Given the description of an element on the screen output the (x, y) to click on. 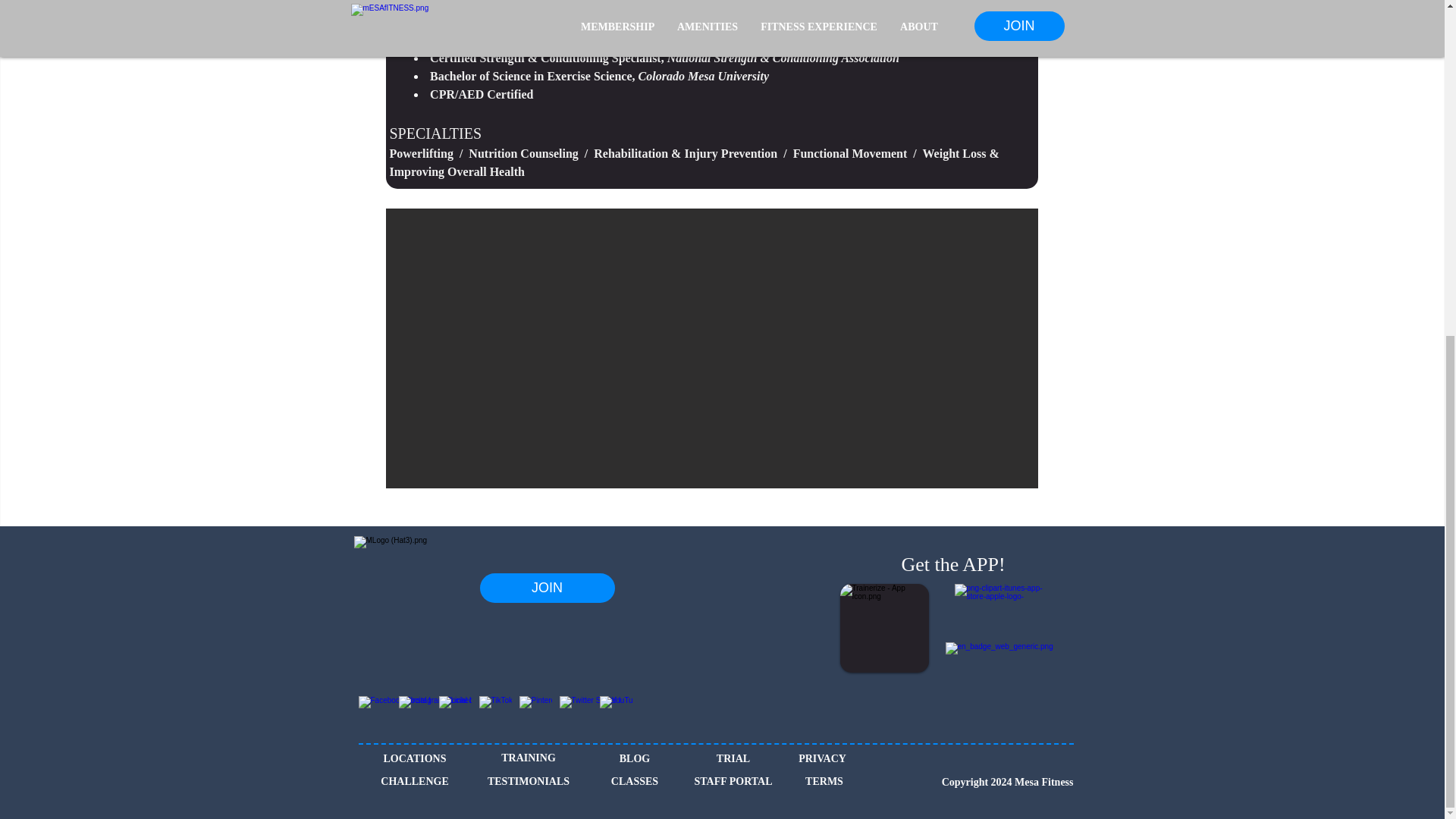
TESTIMONIALS (528, 781)
PRIVACY (821, 758)
TRIAL (732, 758)
LOCATIONS (415, 758)
BLOG (634, 758)
TRAINING (528, 757)
CHALLENGE (414, 781)
JOIN (546, 587)
